Given the description of an element on the screen output the (x, y) to click on. 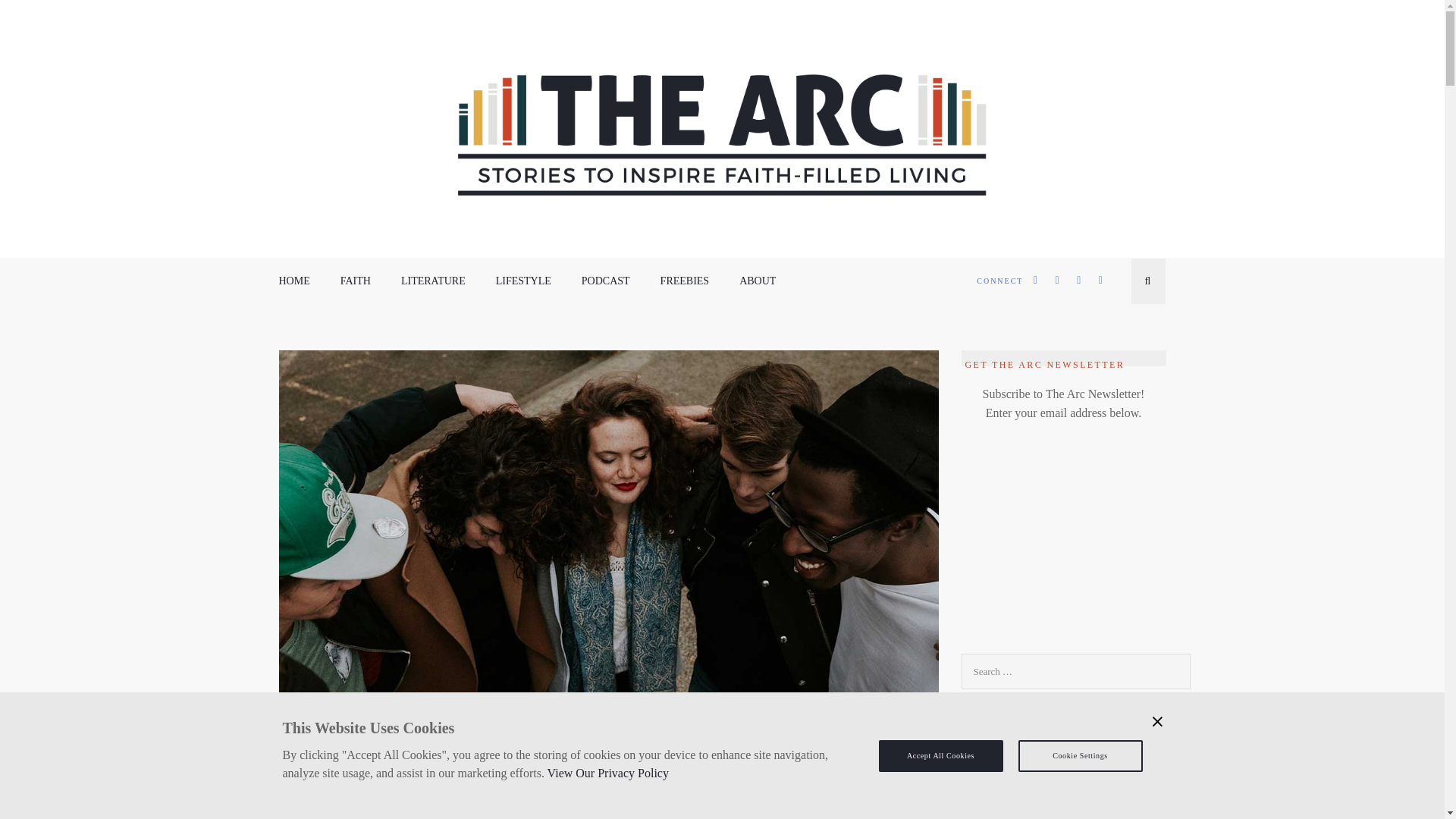
Search (38, 15)
LIFESTYLE (523, 280)
Form 0 (1063, 554)
CONNECT (999, 280)
RELATIONSHIPS (555, 781)
FREEBIES (685, 280)
LITERATURE (433, 280)
SPIRITUAL GROWTH (649, 781)
PODCAST (605, 280)
